Given the description of an element on the screen output the (x, y) to click on. 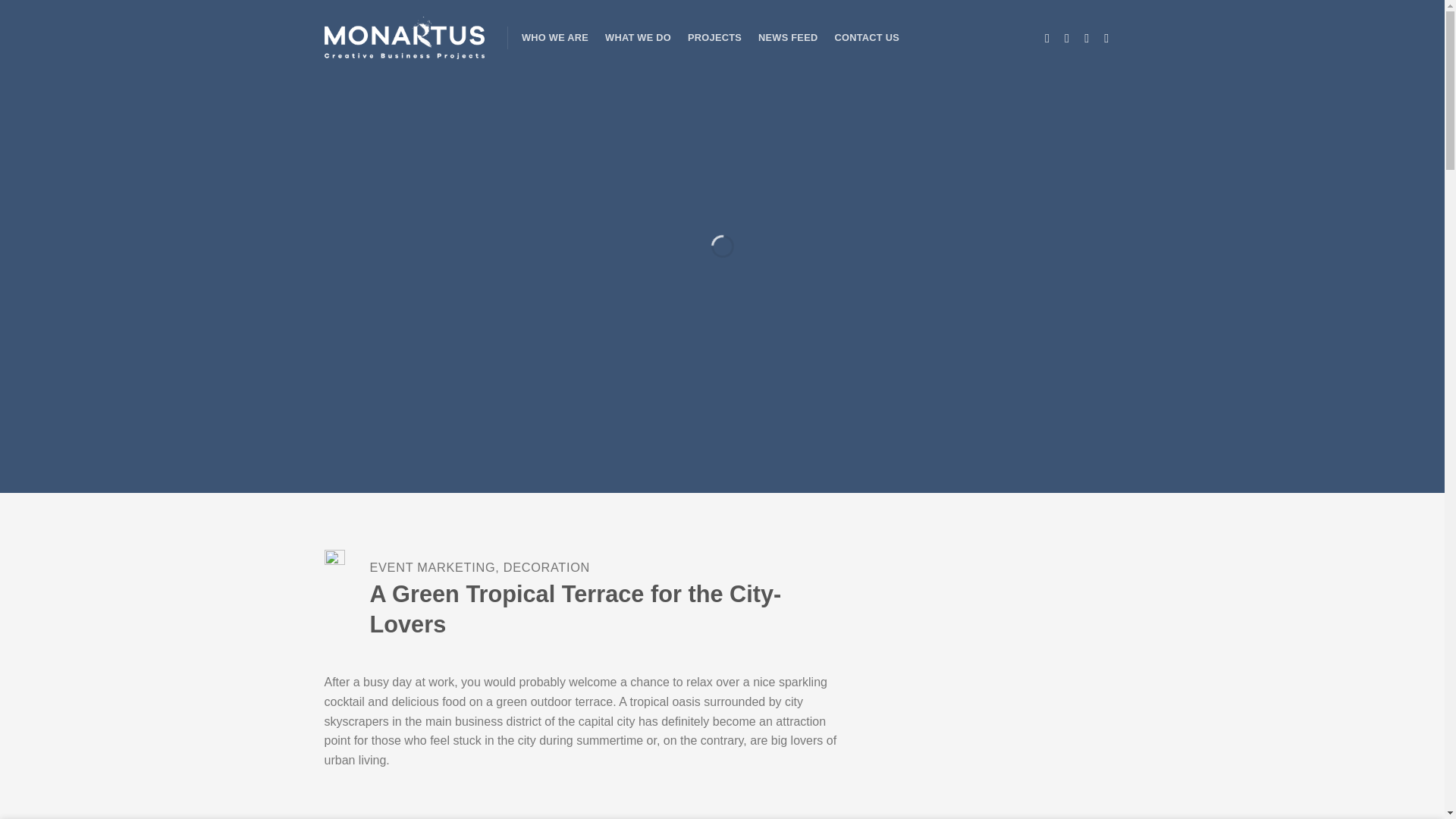
Monartus - Creative Business Projects (404, 38)
Follow on LinkedIn (1090, 38)
Follow on YouTube (1109, 38)
CONTACT US (866, 37)
WHAT WE DO (638, 37)
WHO WE ARE (554, 37)
NEWS FEED (787, 37)
PROJECTS (714, 37)
